Given the description of an element on the screen output the (x, y) to click on. 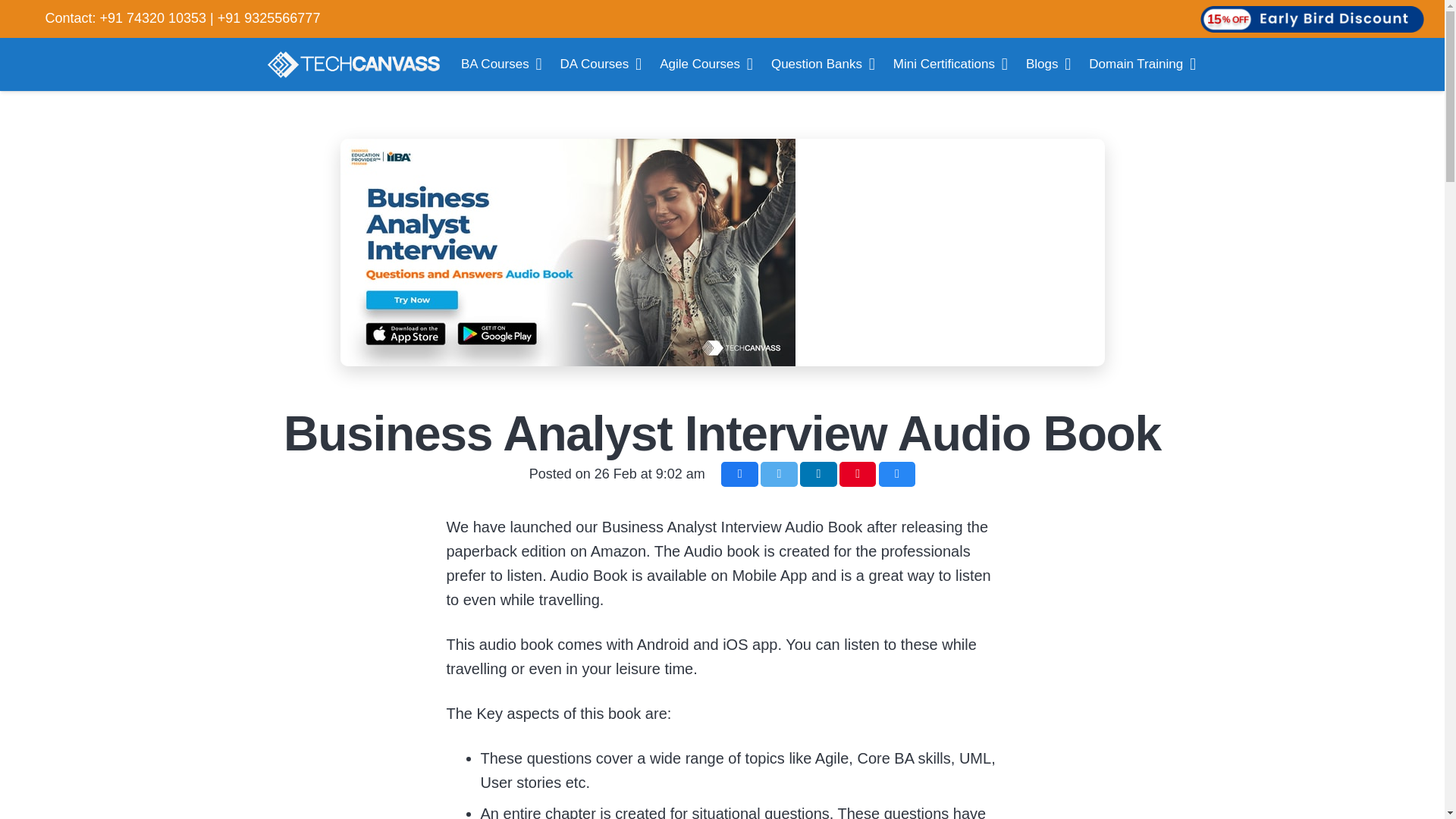
Mini Certifications (949, 64)
Tweet this (778, 473)
DA Courses (600, 64)
Agile Courses (705, 64)
Question Banks (822, 64)
Share this (739, 473)
Pin this (858, 473)
Share this (897, 473)
Blogs (1048, 64)
BA Courses (501, 64)
